Given the description of an element on the screen output the (x, y) to click on. 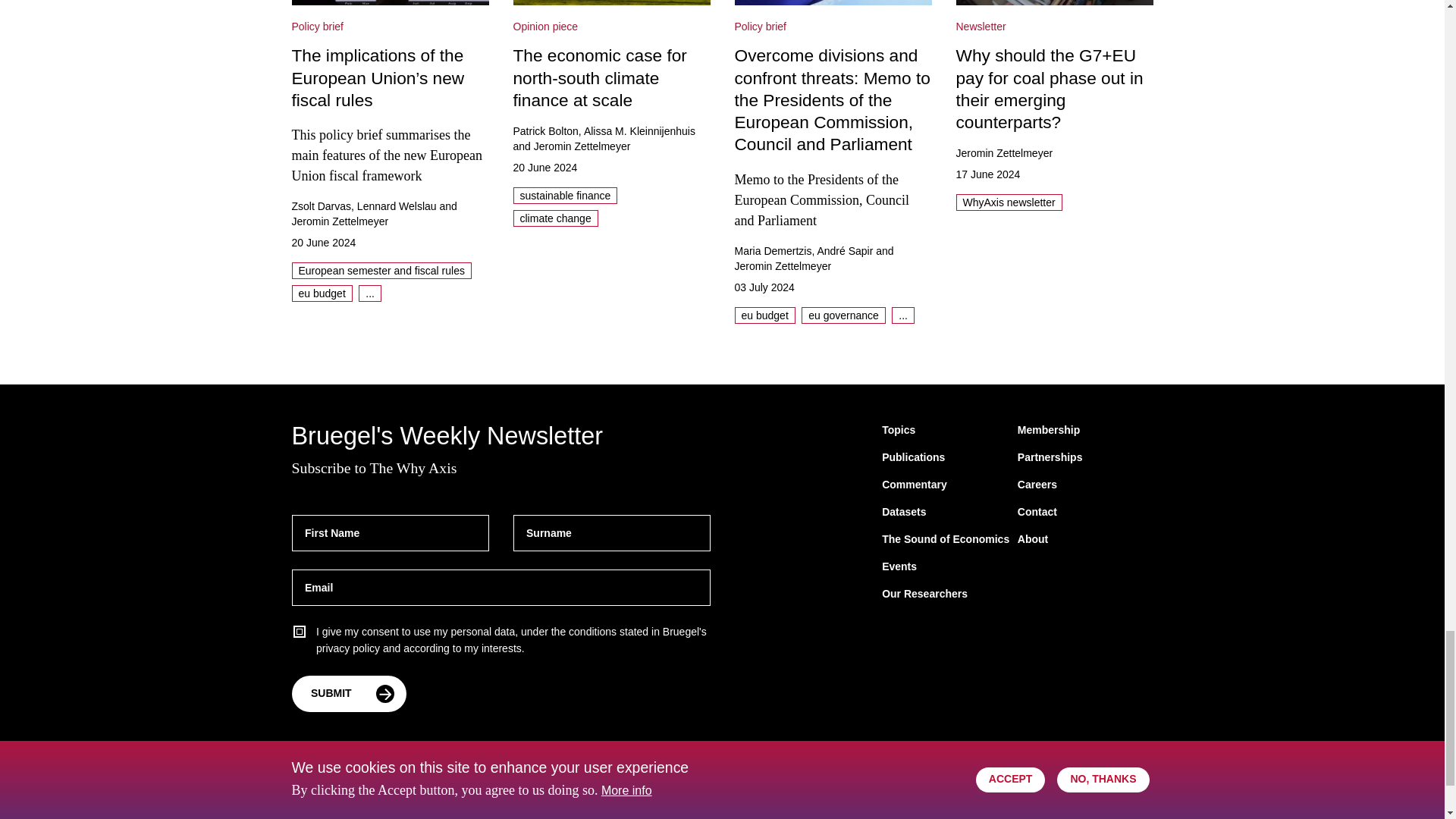
The economic case for north-south climate finance at scale (611, 2)
Topics (898, 430)
